Given the description of an element on the screen output the (x, y) to click on. 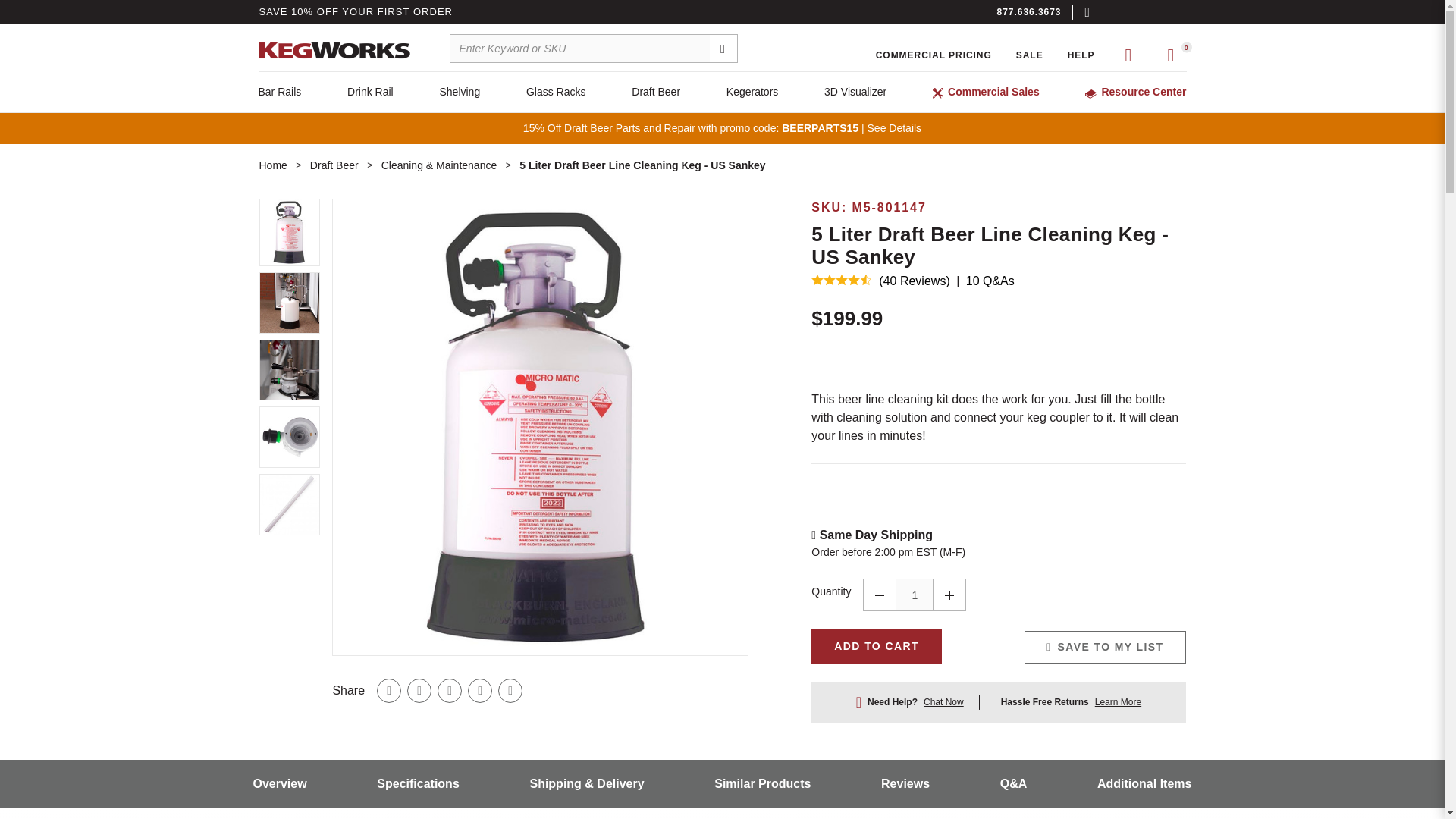
Bar Rails (279, 92)
Search (723, 48)
1 (914, 594)
Add to Cart (876, 646)
Enter keyword (593, 48)
